Given the description of an element on the screen output the (x, y) to click on. 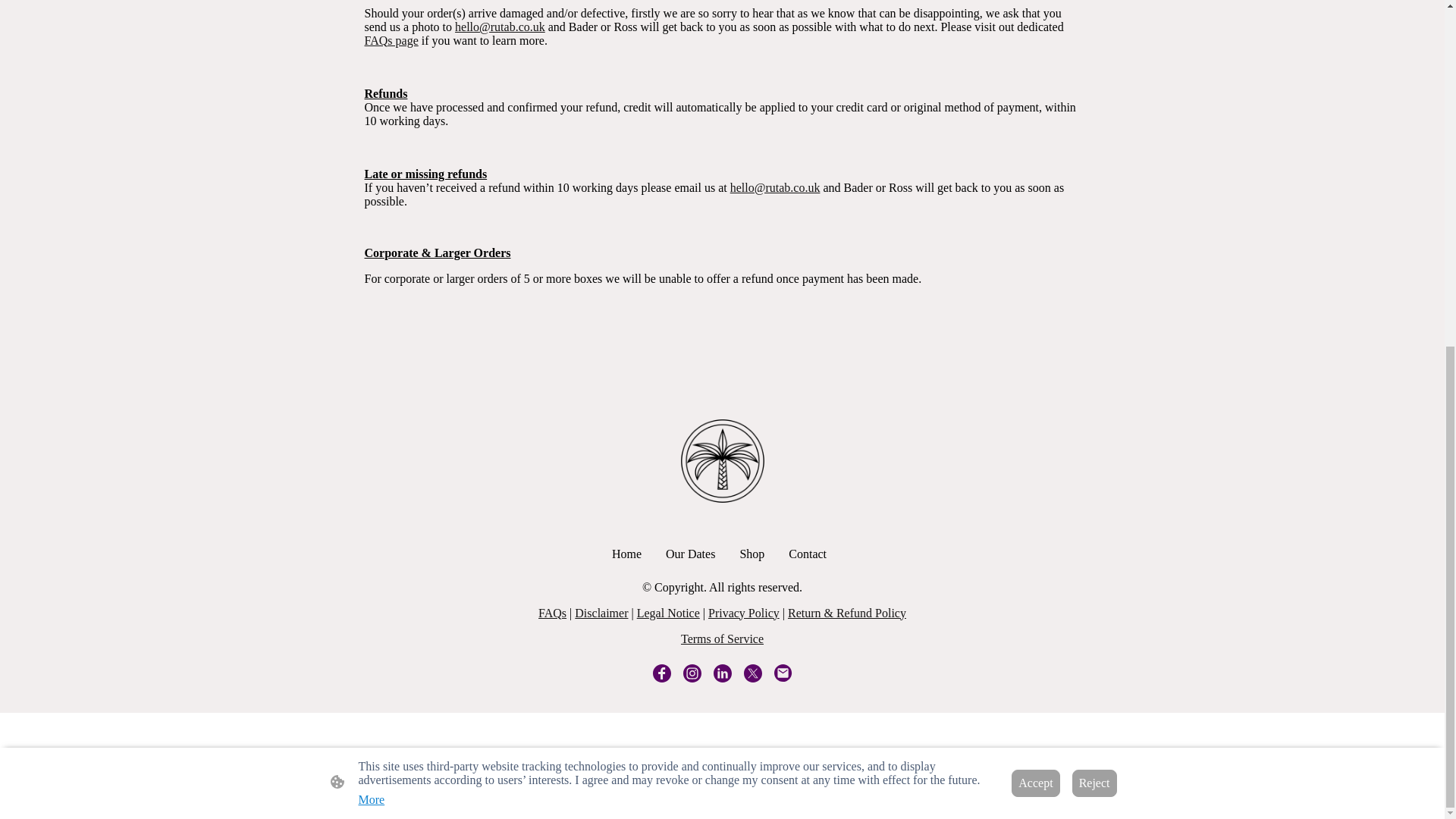
Shop (751, 554)
Privacy Policy (742, 612)
Legal Notice (668, 612)
Terms of Service (721, 638)
Accept (1035, 186)
Disclaimer (601, 612)
Contact (807, 554)
FAQs page (390, 40)
Home (626, 554)
Our Dates (690, 554)
